Given the description of an element on the screen output the (x, y) to click on. 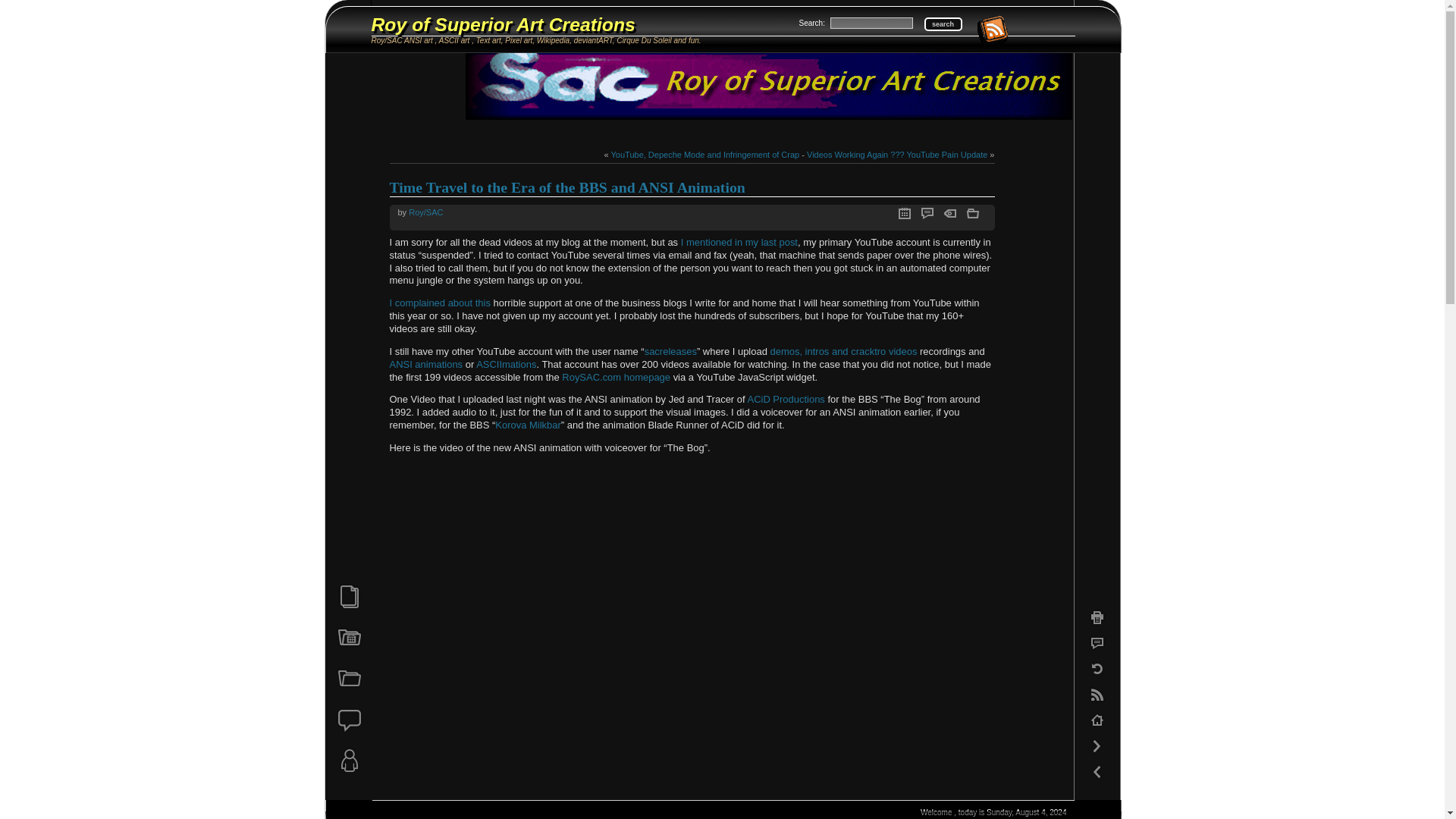
Time Travel to the Era of the BBS and ANSI Animation (567, 187)
Time Travel to the Era of the BBS and ANSI Animation (567, 187)
Roy of Superior Art Creations (502, 24)
search (941, 24)
ACiD Productions (785, 398)
ANSI animations (426, 364)
demos, intros and cracktro videos (843, 351)
RoySAC.com homepage (615, 377)
search (941, 24)
Korova Milkbar (527, 424)
I complained about this (440, 302)
sacreleases (671, 351)
search (941, 24)
ASCIImations (505, 364)
I mentioned in my last post (739, 242)
